Given the description of an element on the screen output the (x, y) to click on. 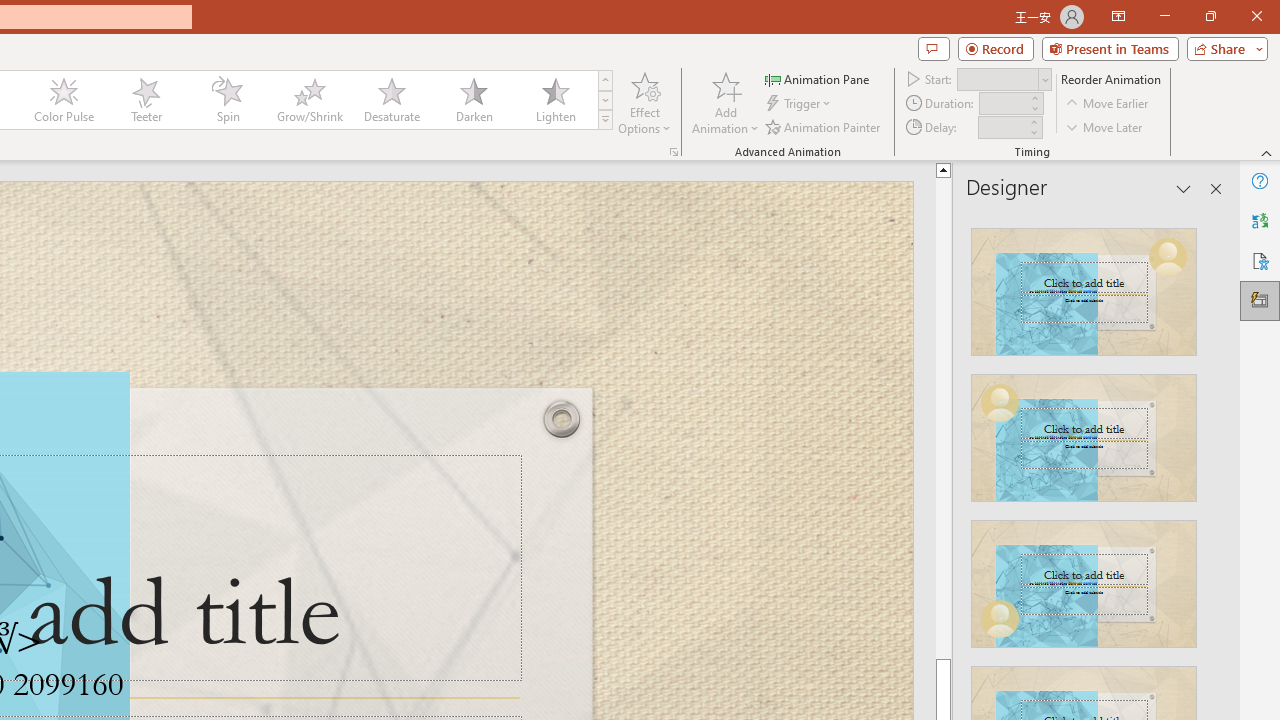
Animation Pane (818, 78)
Animation Duration (1003, 103)
Lighten (555, 100)
Grow/Shrink (309, 100)
Desaturate (391, 100)
Move Later (1105, 126)
